Given the description of an element on the screen output the (x, y) to click on. 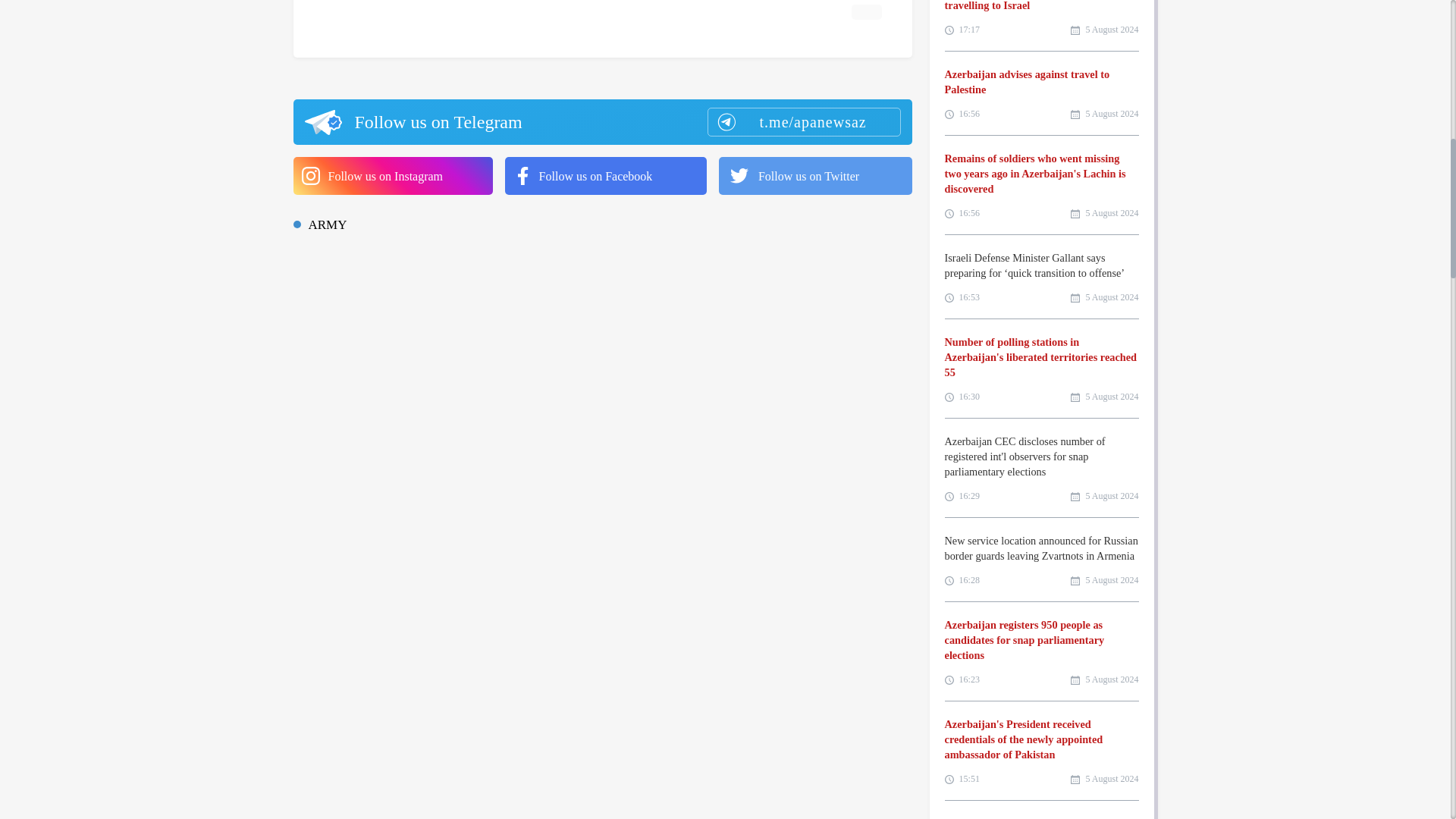
Follow us on Twitter (815, 175)
Follow us on Instagram (392, 175)
Follow us on Telegram (601, 121)
Follow us on Facebook (605, 175)
